Given the description of an element on the screen output the (x, y) to click on. 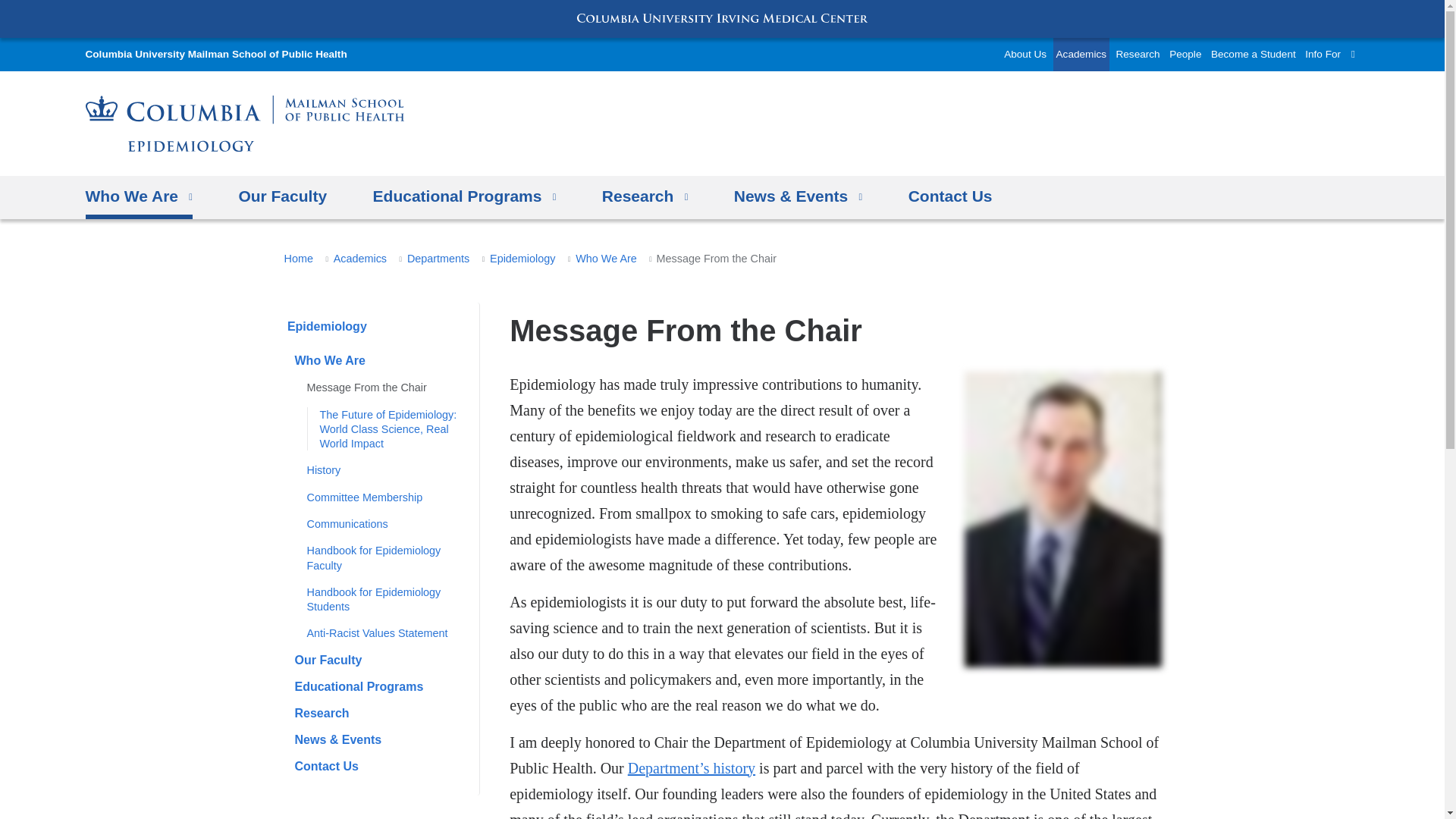
Educational Programs (464, 197)
People (1185, 54)
Home (215, 54)
Academics (1080, 54)
Research (1136, 54)
Who We Are (138, 197)
Info For (1322, 54)
Epidemiology Home (243, 123)
Columbia University Mailman School of Public Health (215, 54)
Become a Student (1253, 54)
Research (644, 197)
Our Faculty (282, 197)
Columbia University Irving Medical Center (721, 17)
About Us (1025, 54)
